Given the description of an element on the screen output the (x, y) to click on. 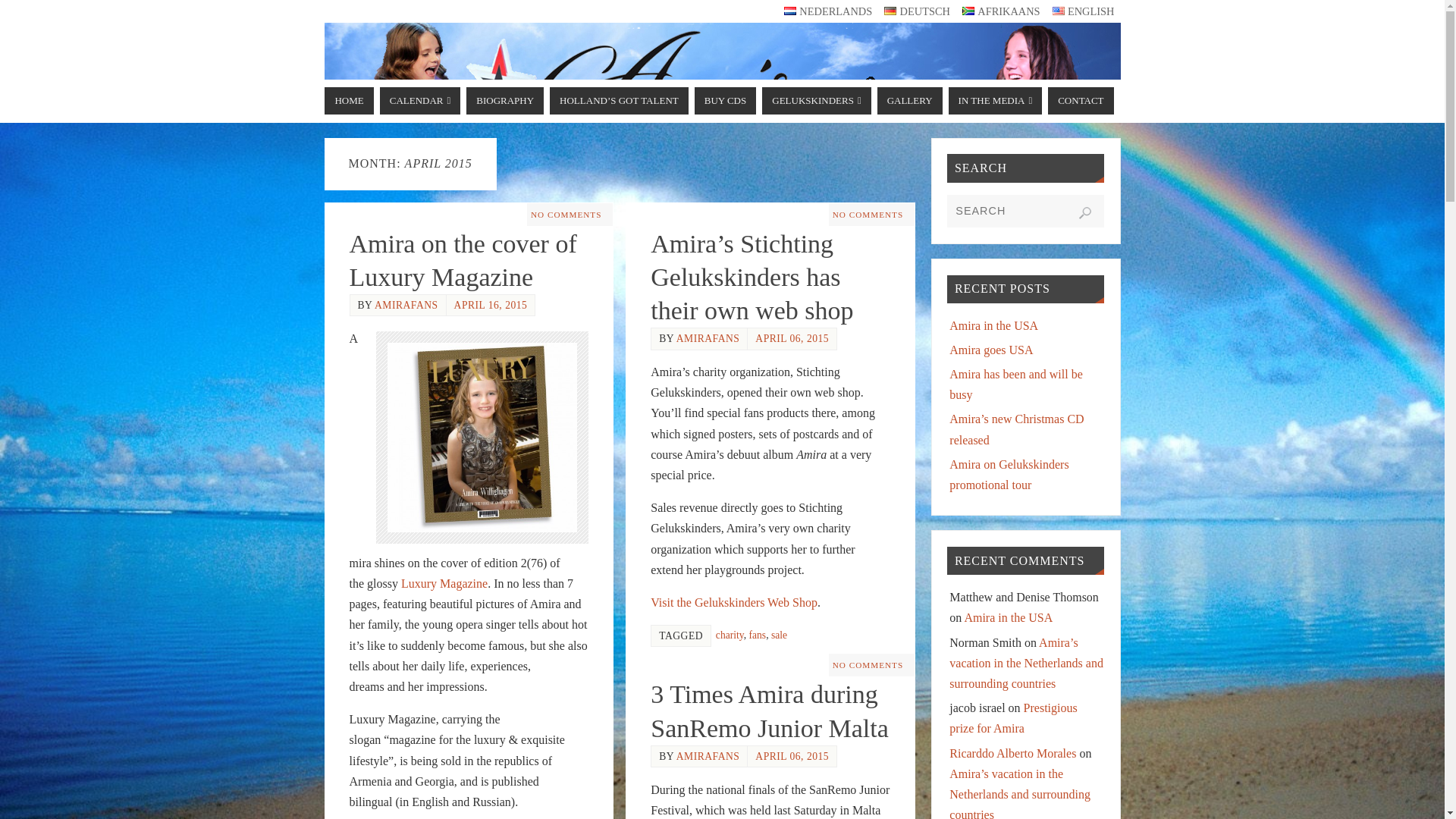
AmiraFans, the Amira Willighagen Fan Site (722, 79)
Gelukskinders Web Shop (733, 602)
NEDERLANDS (828, 11)
HOME (348, 99)
NO COMMENTS (867, 214)
3 Times Amira during SanRemo Junior Malta (769, 711)
AFRIKAANS (1000, 11)
View all posts by AmiraFans (708, 337)
Luxury Magazine (444, 583)
Permalink to 3 Times Amira during SanRemo Junior Malta (769, 711)
BIOGRAPHY (504, 99)
View all posts by AmiraFans (406, 305)
fans (758, 634)
Visit the Gelukskinders Web Shop (733, 602)
AMIRAFANS (708, 337)
